Given the description of an element on the screen output the (x, y) to click on. 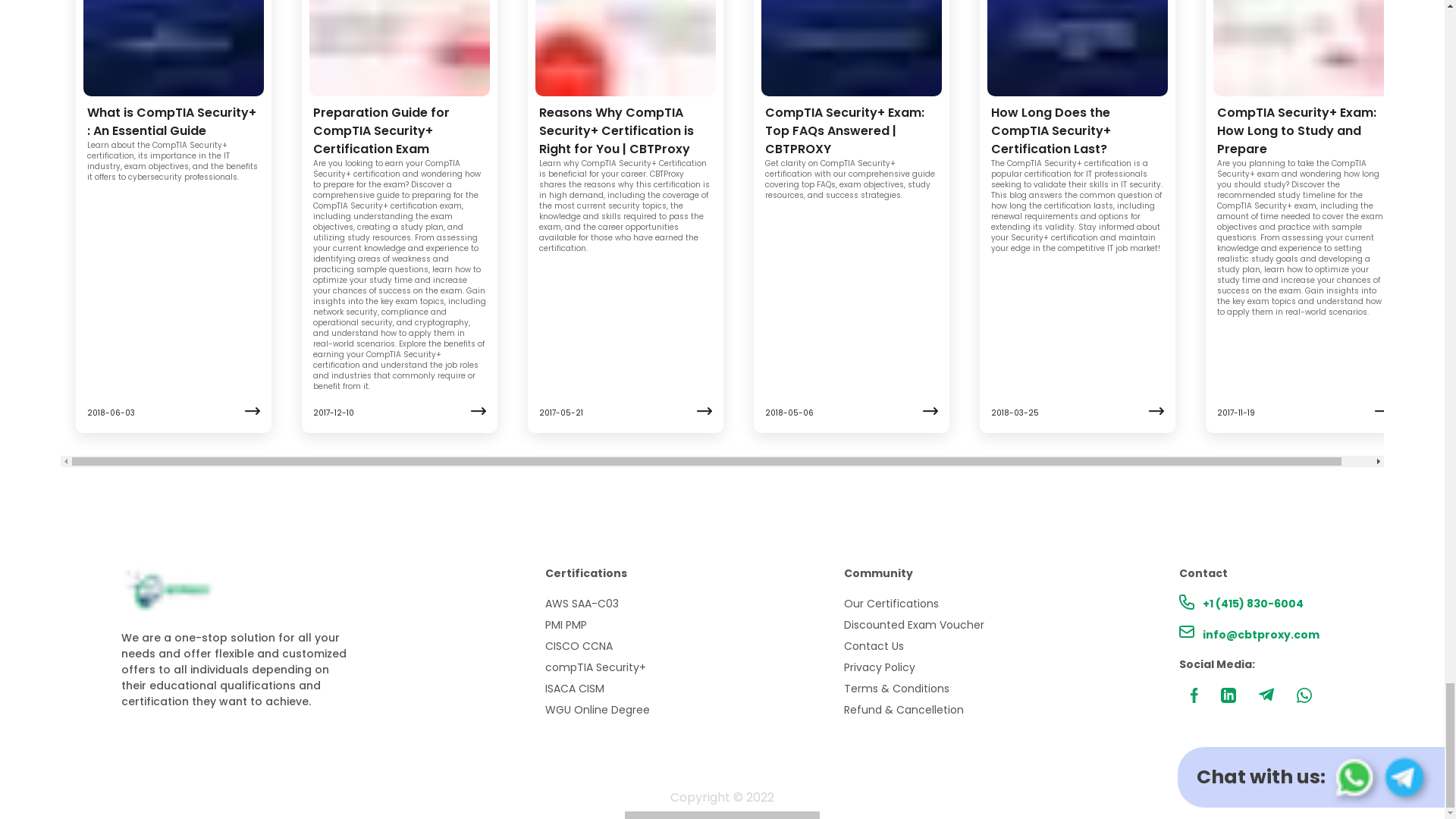
AWS SAA-C03 (596, 603)
PMI PMP (596, 624)
